Given the description of an element on the screen output the (x, y) to click on. 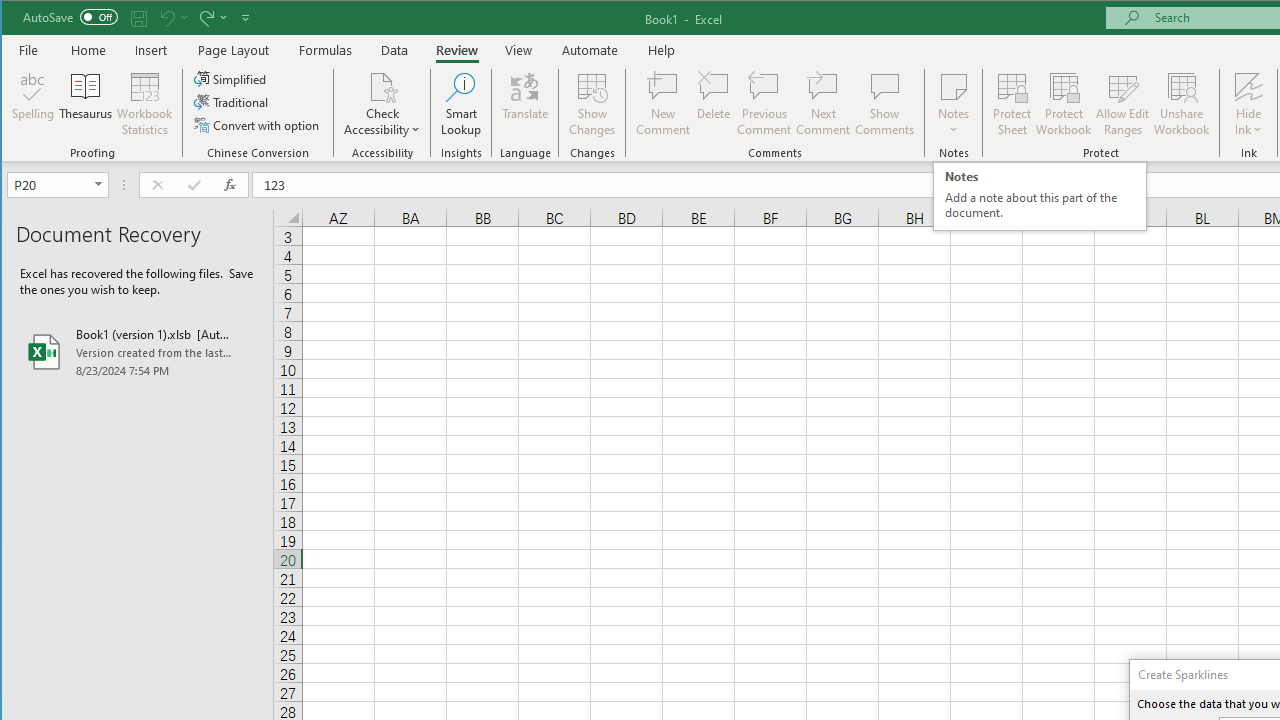
Hide Ink (1248, 86)
Workbook Statistics (145, 104)
